Given the description of an element on the screen output the (x, y) to click on. 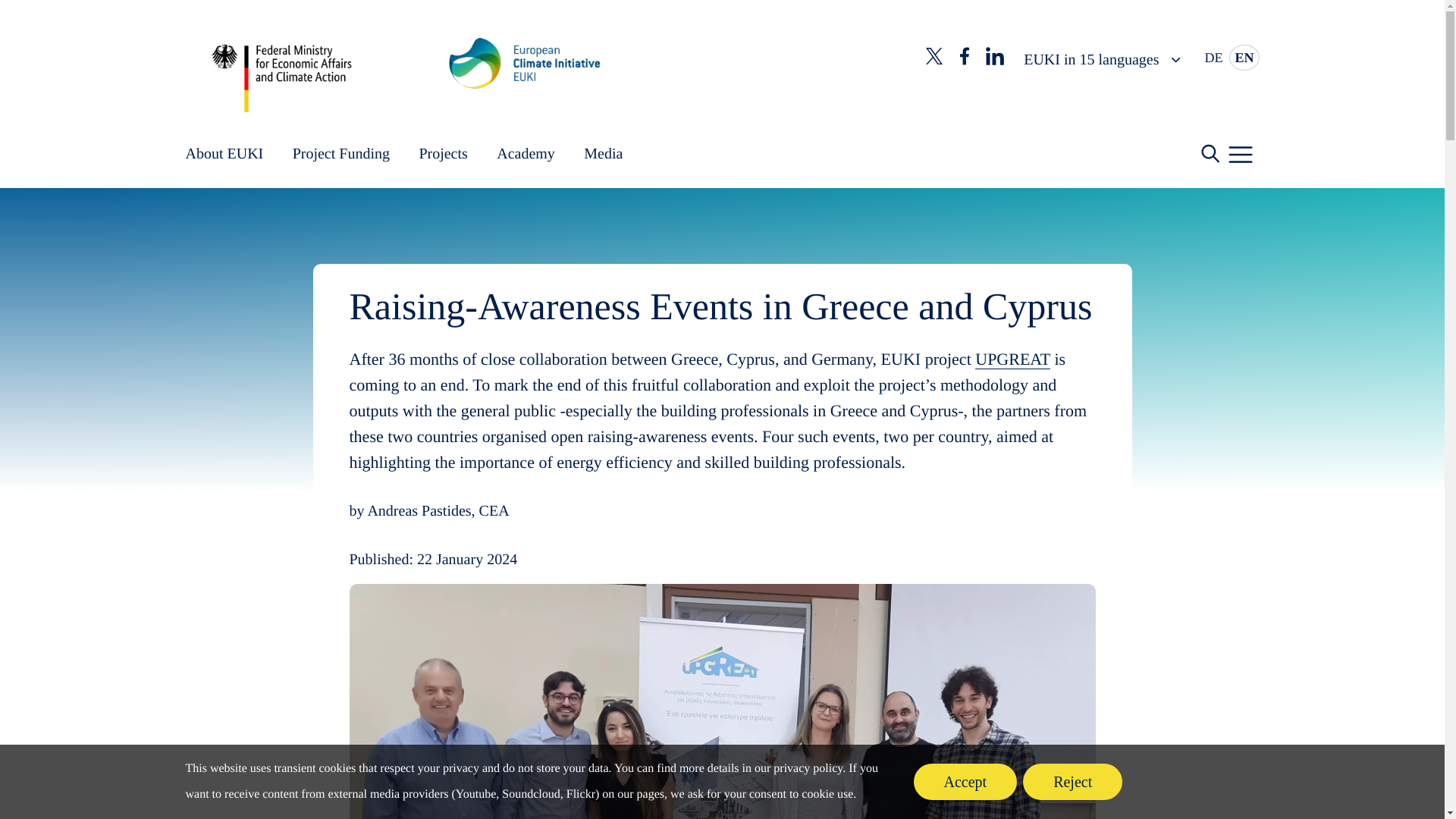
DE (1215, 57)
Search (1173, 153)
Project Funding (341, 153)
About EUKI (223, 153)
Academy (525, 153)
Projects (443, 153)
EN (1243, 57)
Media (603, 153)
